Given the description of an element on the screen output the (x, y) to click on. 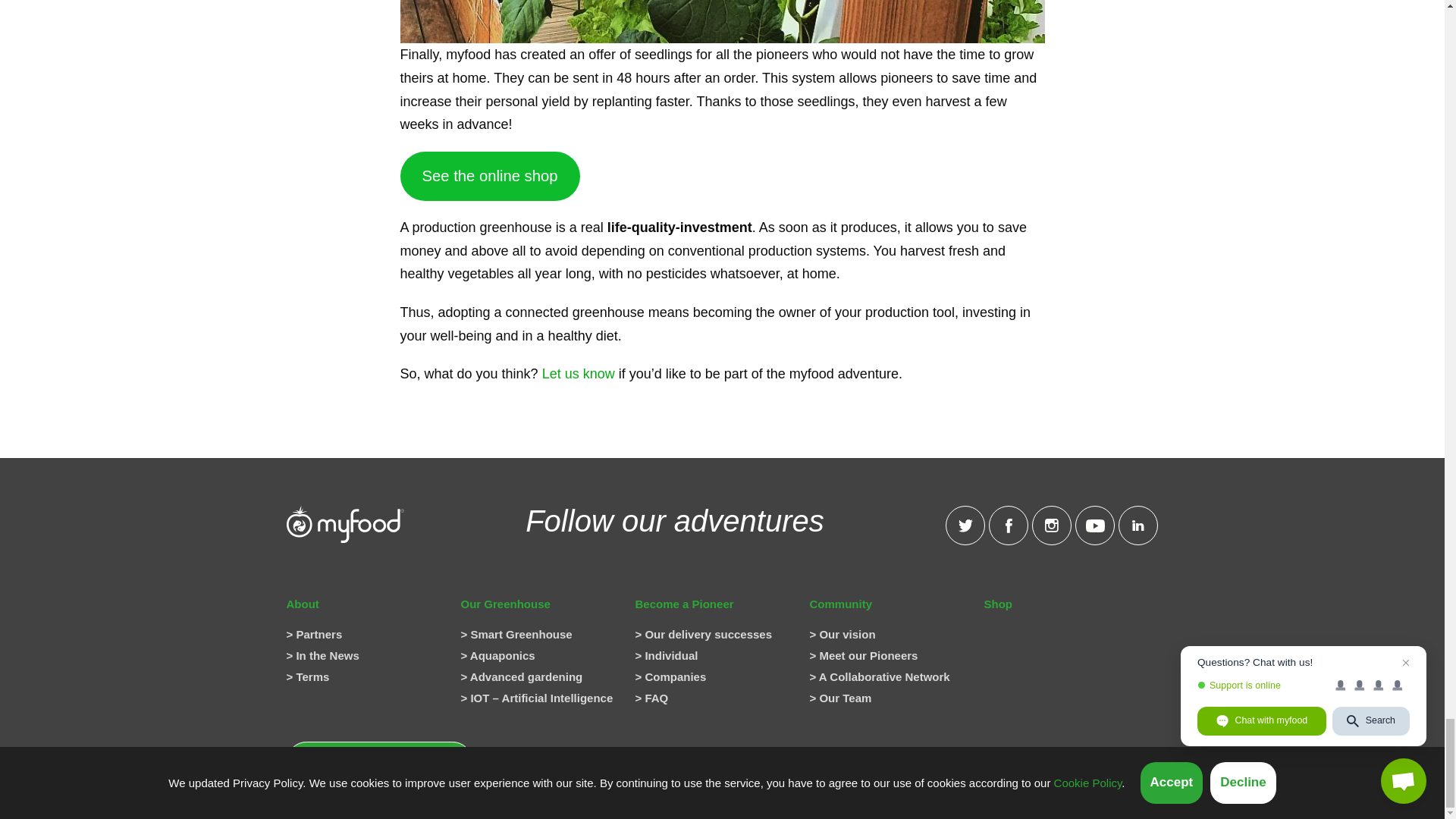
logo (345, 524)
